Given the description of an element on the screen output the (x, y) to click on. 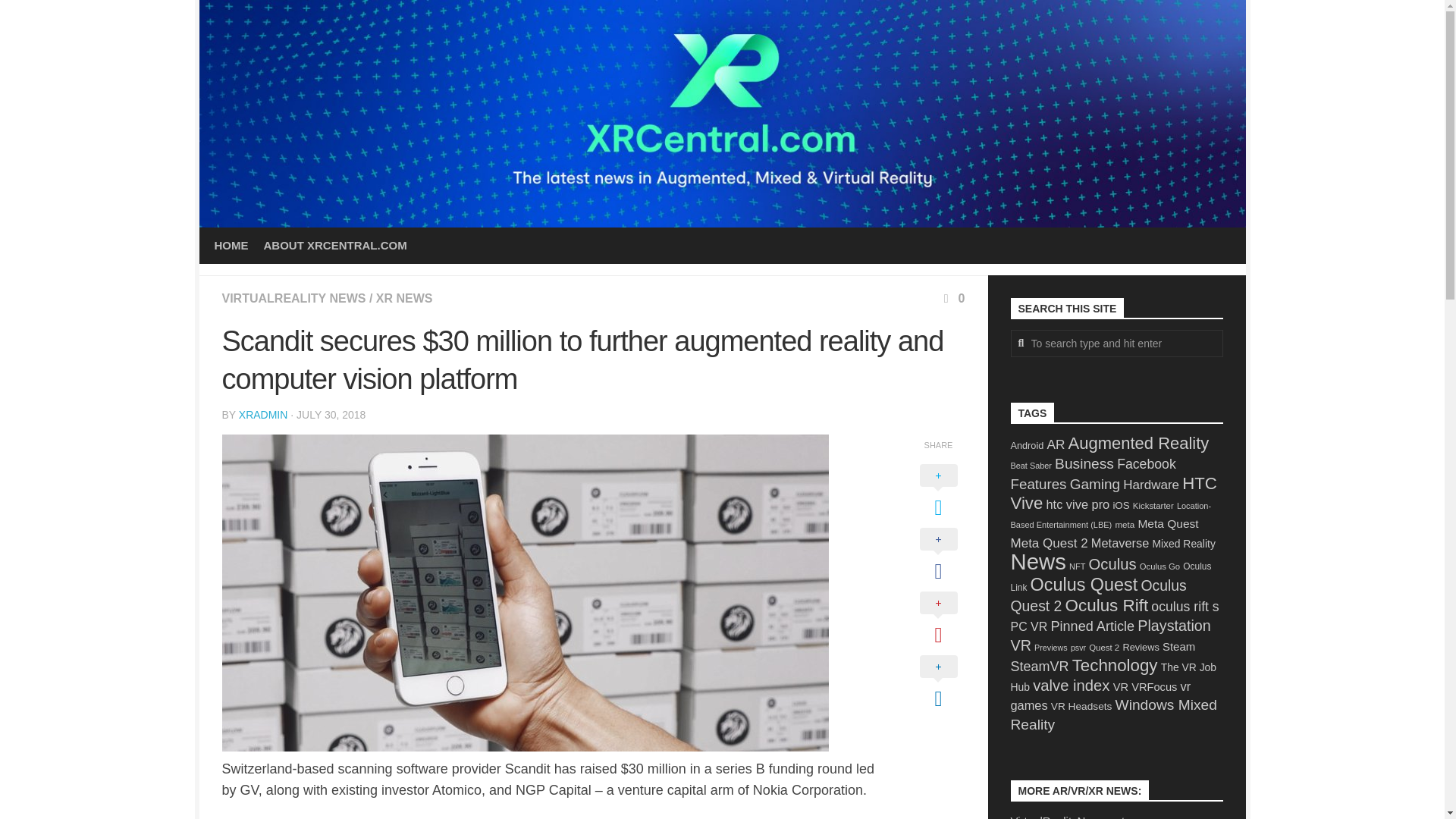
HOME (230, 245)
AR (1055, 444)
0 (952, 297)
To search type and hit enter (1116, 343)
Features (1037, 483)
ABOUT XRCENTRAL.COM (335, 245)
Beat Saber (1030, 465)
Facebook (1146, 463)
VIRTUALREALITY NEWS (293, 297)
XRADMIN (263, 414)
